Given the description of an element on the screen output the (x, y) to click on. 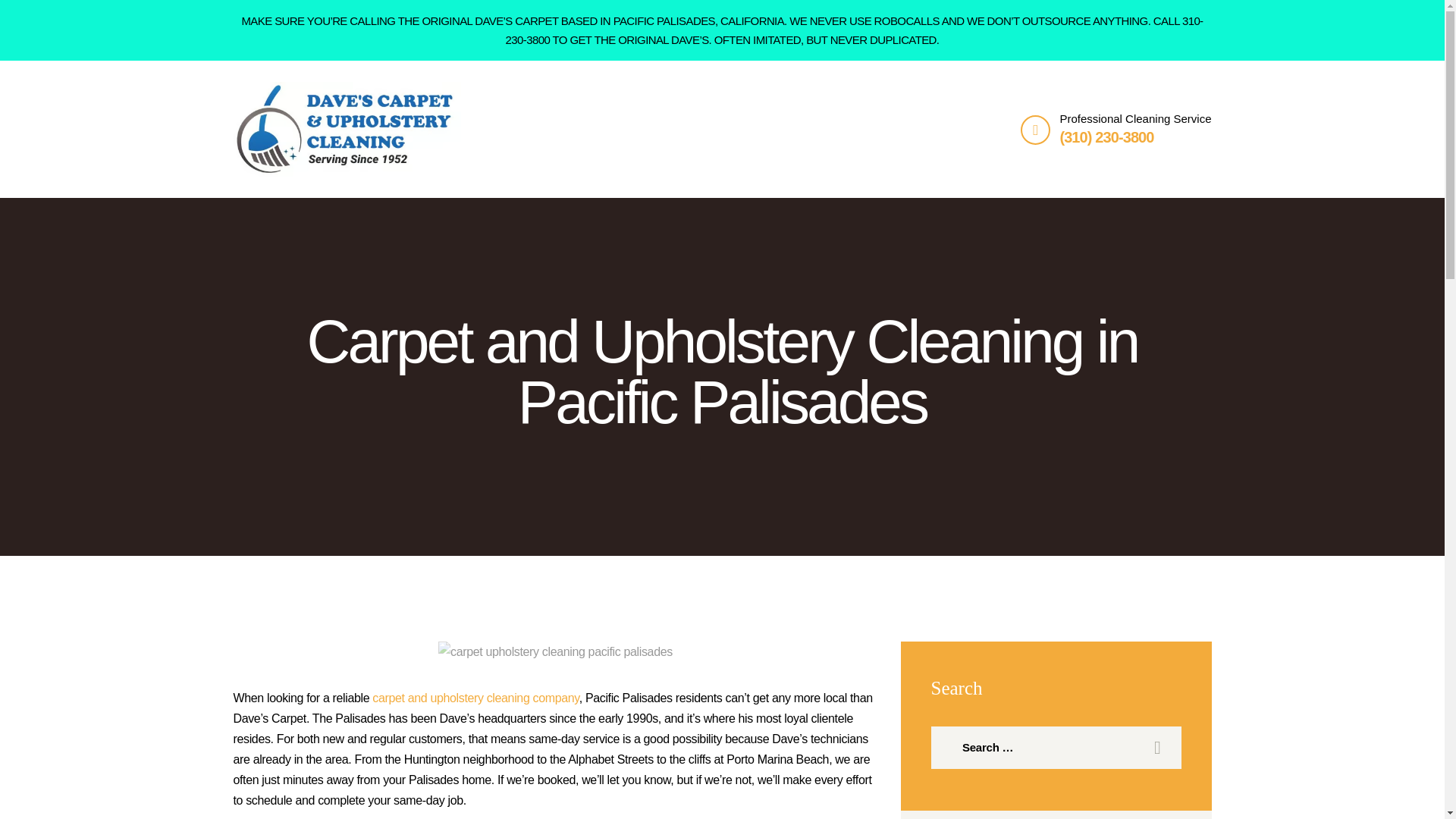
Search (1153, 747)
Search (1153, 747)
carpet upholstery cleaning pacific palisades (555, 651)
